Given the description of an element on the screen output the (x, y) to click on. 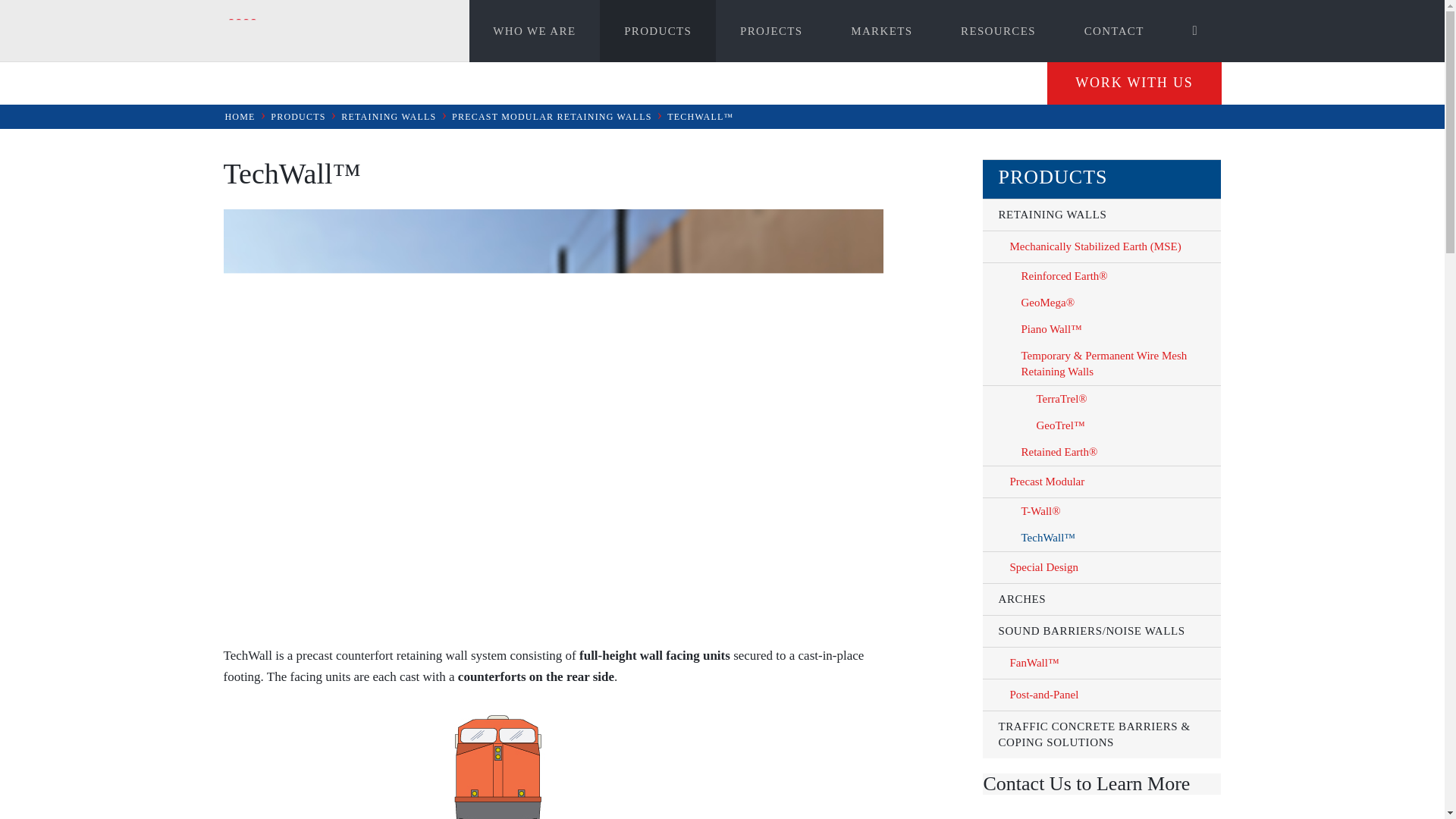
PRODUCTS (657, 31)
WHO WE ARE (533, 31)
PROJECTS (771, 31)
